Given the description of an element on the screen output the (x, y) to click on. 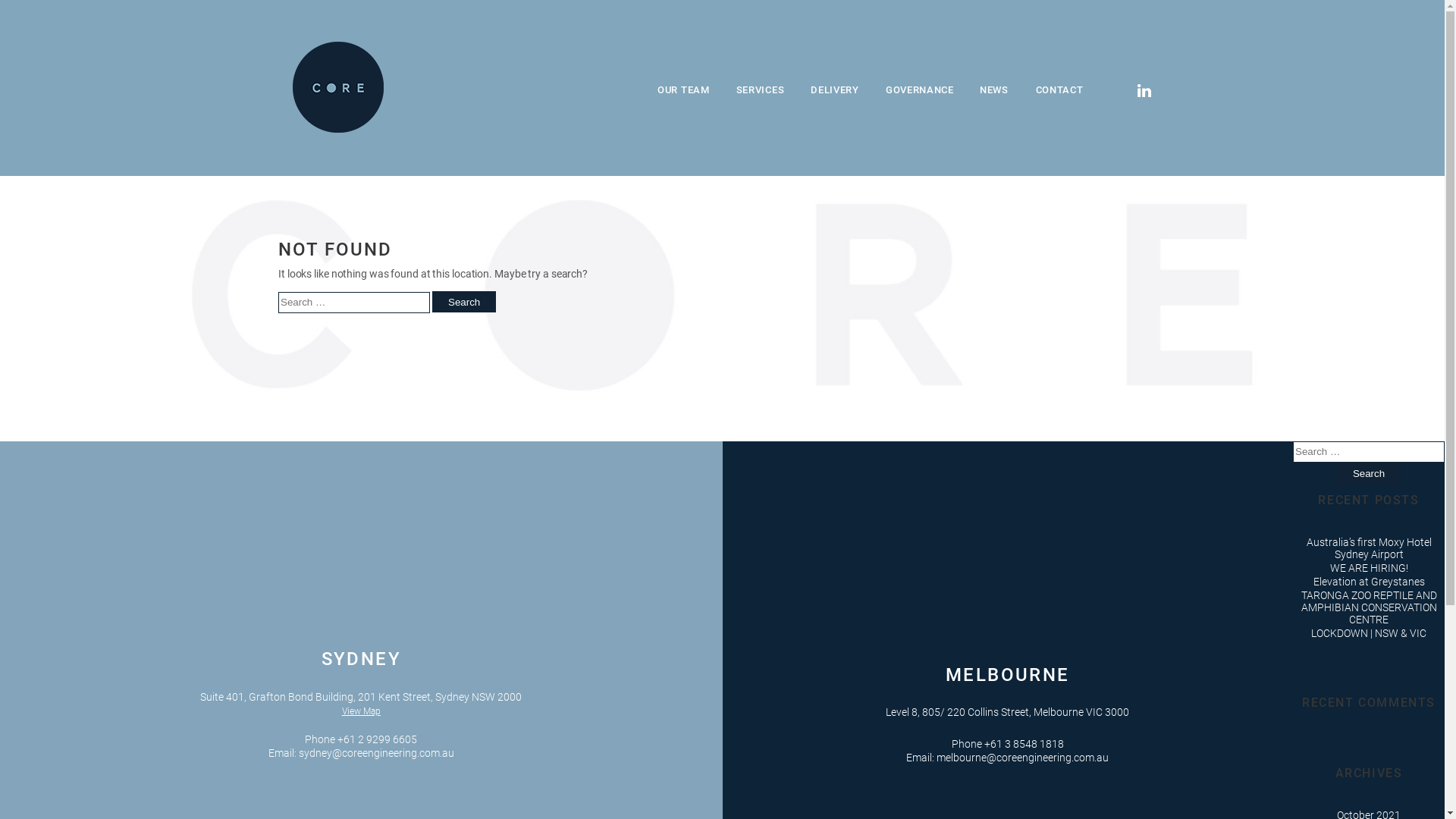
+61 3 8548 1818 Element type: text (1023, 743)
SERVICES Element type: text (760, 91)
sydney@coreengineering.com.au Element type: text (376, 752)
WE ARE HIRING! Element type: text (1369, 567)
TARONGA ZOO REPTILE AND AMPHIBIAN CONSERVATION CENTRE Element type: text (1369, 607)
NEWS Element type: text (993, 91)
OUR TEAM Element type: text (683, 91)
+61 2 9299 6605 Element type: text (377, 738)
DELIVERY Element type: text (834, 91)
LOCKDOWN | NSW & VIC Element type: text (1368, 633)
GOVERNANCE Element type: text (919, 91)
Search Element type: text (1368, 472)
Search Element type: text (463, 301)
Elevation at Greystanes Element type: text (1368, 581)
melbourne@coreengineering.com.au Element type: text (1022, 757)
CONTACT Element type: text (1059, 91)
